Given the description of an element on the screen output the (x, y) to click on. 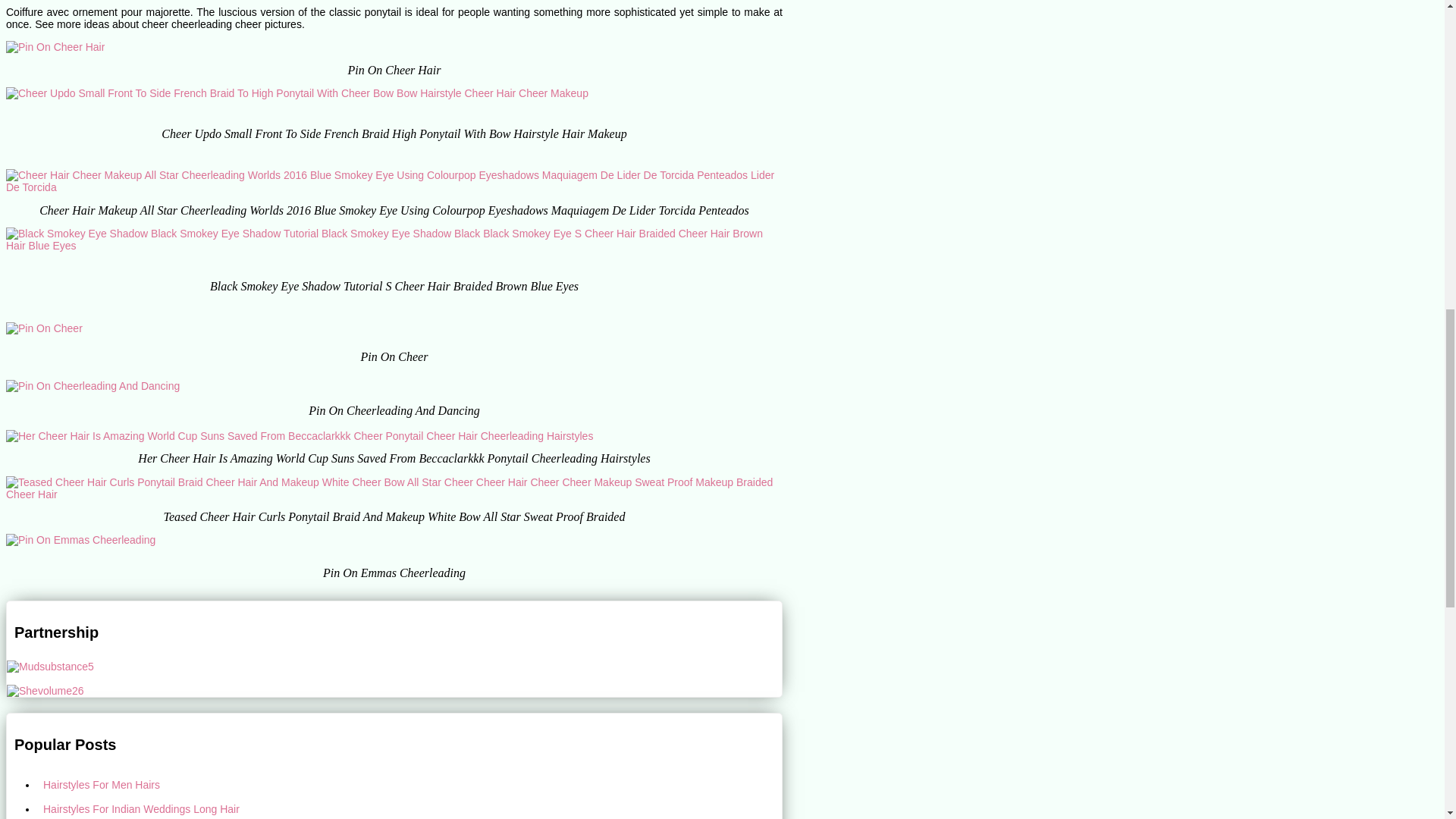
Hairstyles For Indian Weddings Long Hair (409, 807)
Mudsubstance5 (50, 666)
Shevolume26 (45, 690)
Hairstyles For Men Hairs (409, 784)
